Given the description of an element on the screen output the (x, y) to click on. 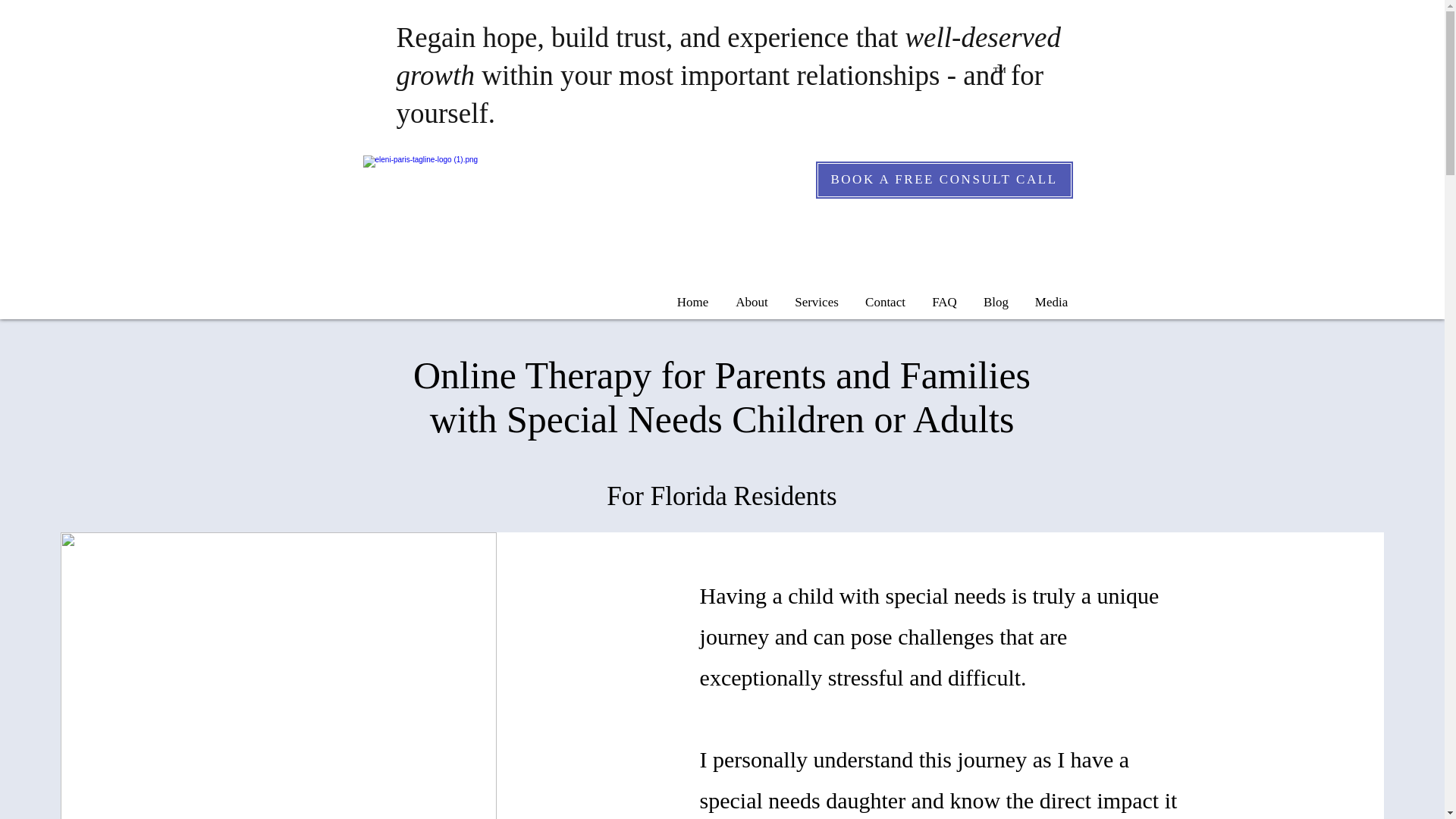
BOOK A FREE CONSULT CALL (943, 179)
Home (692, 302)
About (751, 302)
Blog (996, 302)
FAQ (944, 302)
Contact (884, 302)
